Given the description of an element on the screen output the (x, y) to click on. 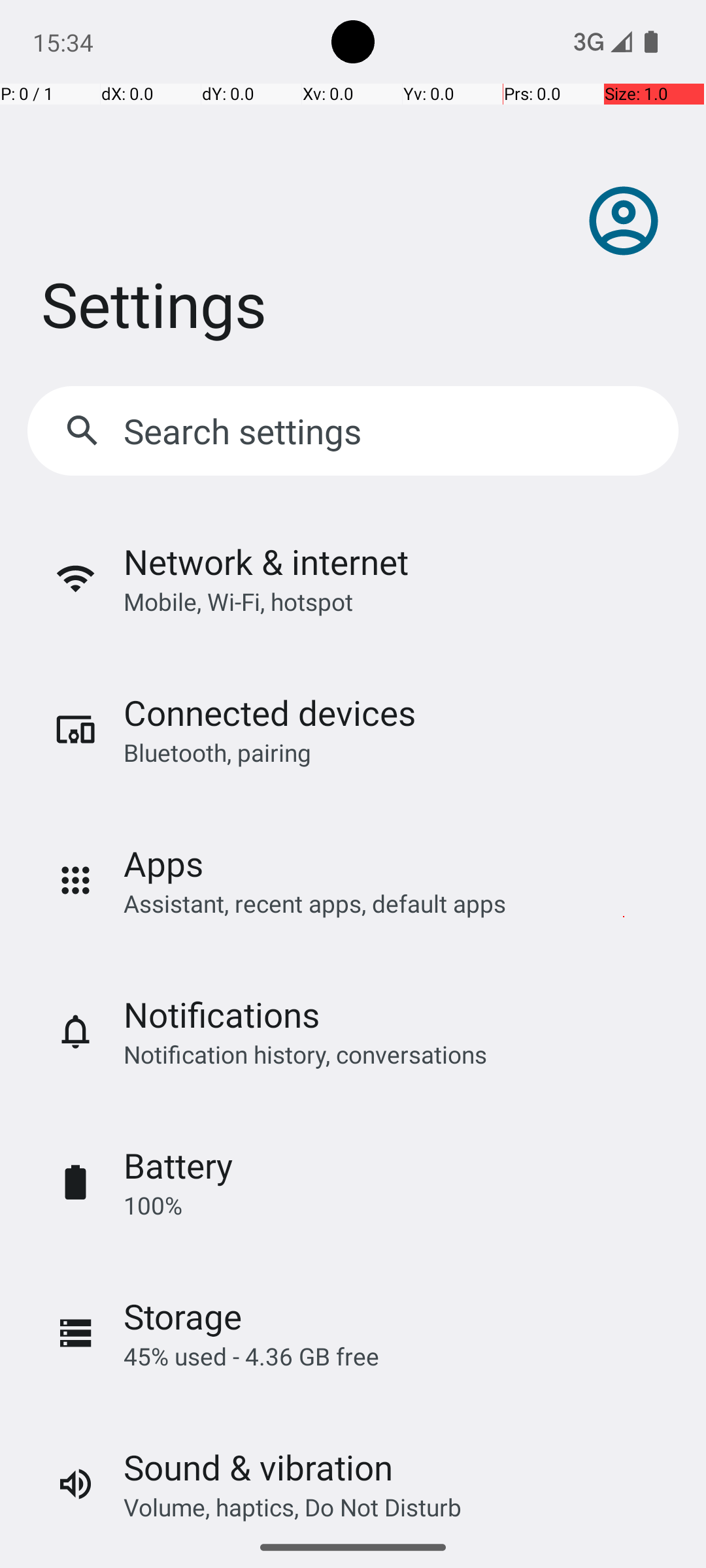
45% used - 4.36 GB free Element type: android.widget.TextView (251, 1355)
